Given the description of an element on the screen output the (x, y) to click on. 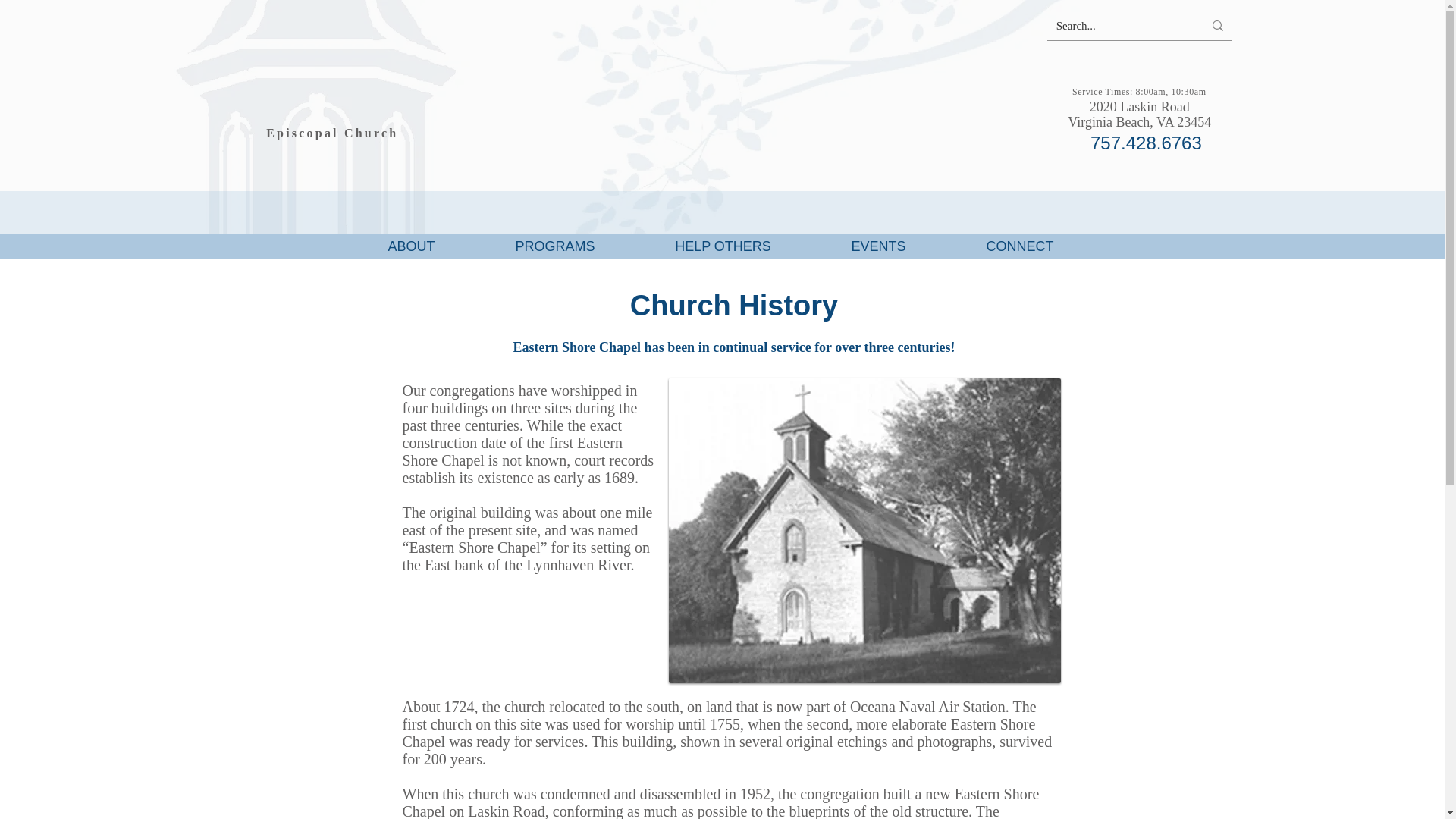
757.428.6763 (1139, 114)
